Given the description of an element on the screen output the (x, y) to click on. 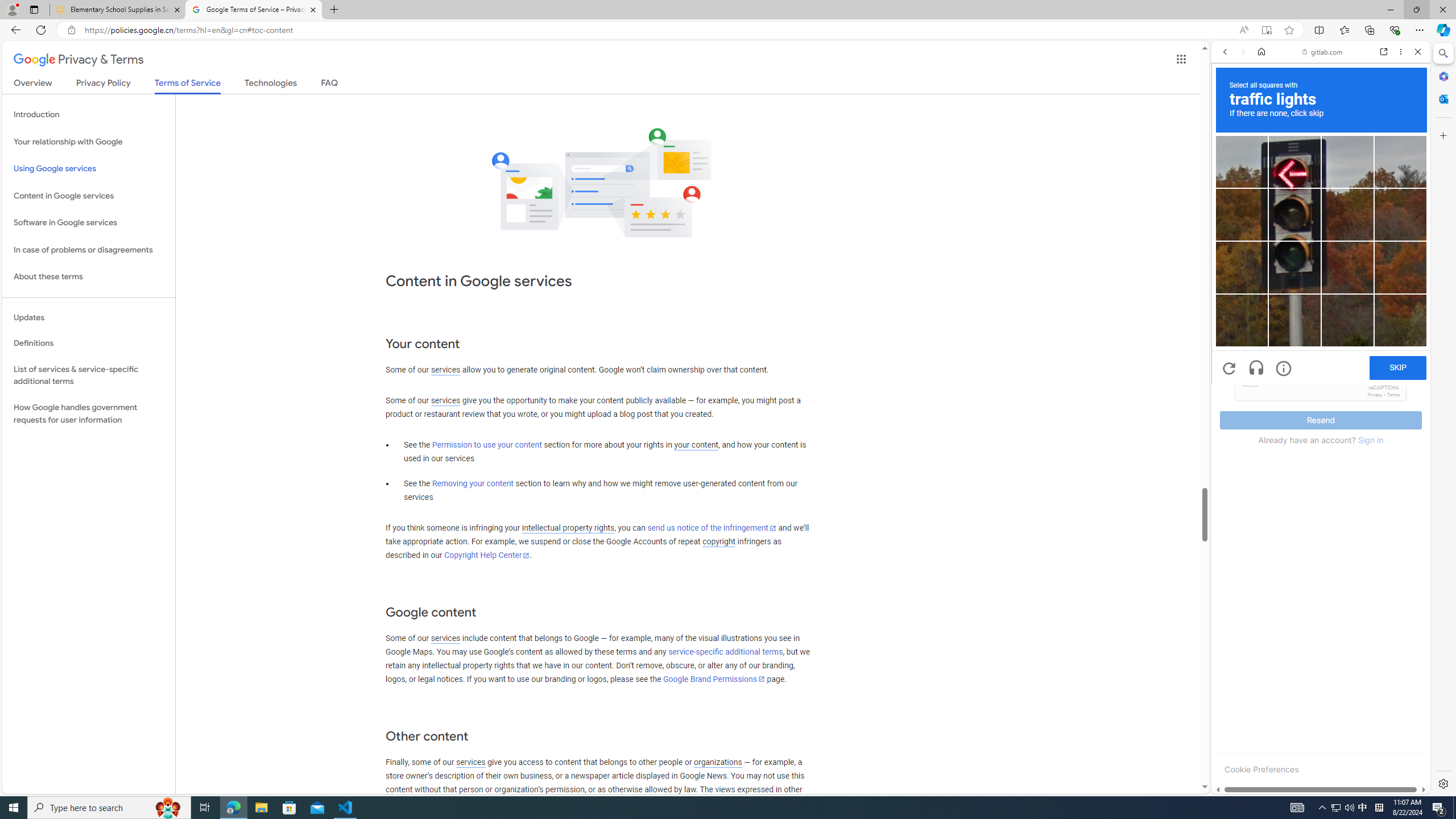
gitlab.com (1323, 51)
About GitLab (1320, 336)
Login (1320, 281)
Confirmation Page (1320, 392)
Confirmation Page (1320, 389)
